Given the description of an element on the screen output the (x, y) to click on. 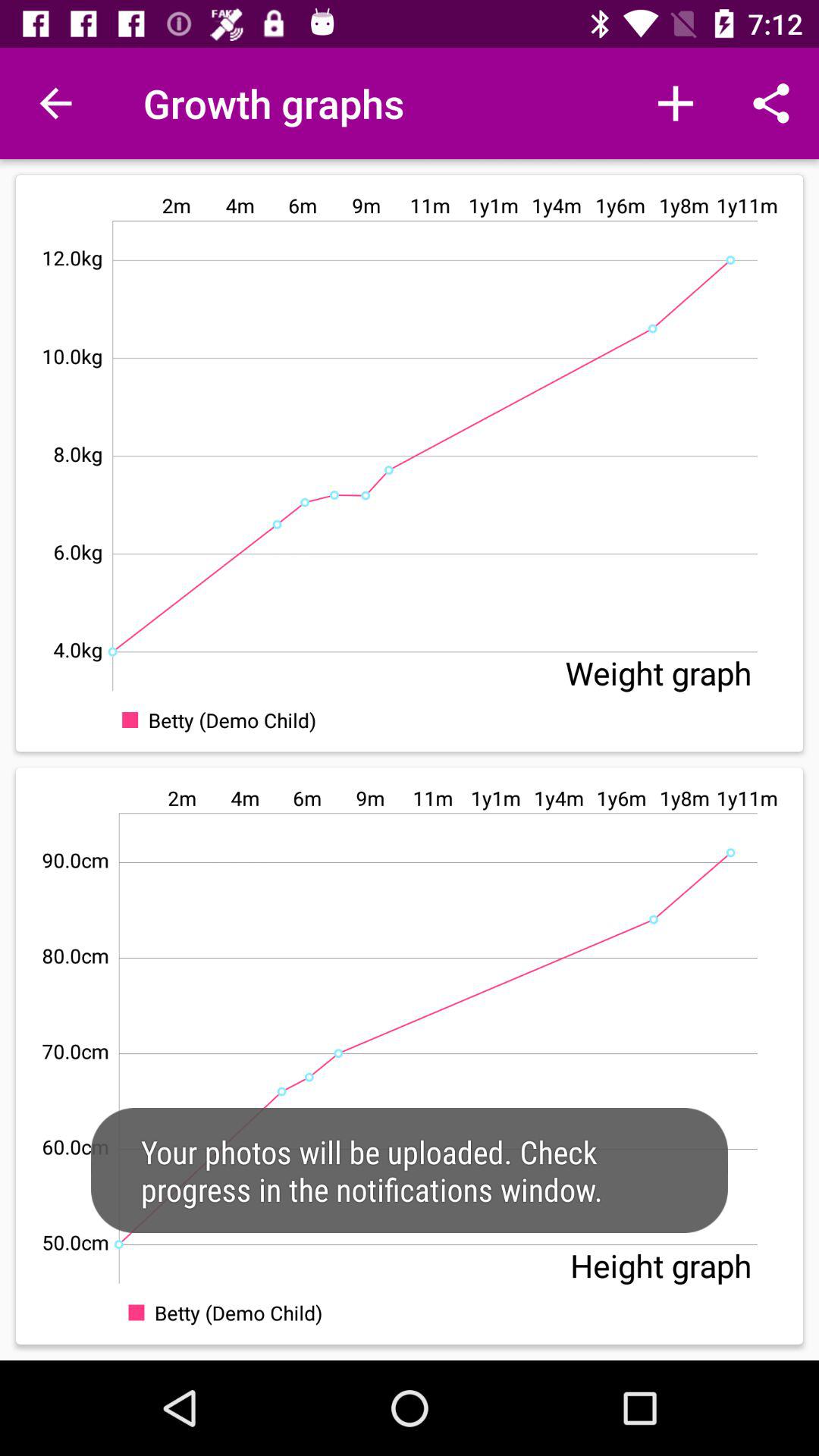
turn off icon next to growth graphs (675, 103)
